Given the description of an element on the screen output the (x, y) to click on. 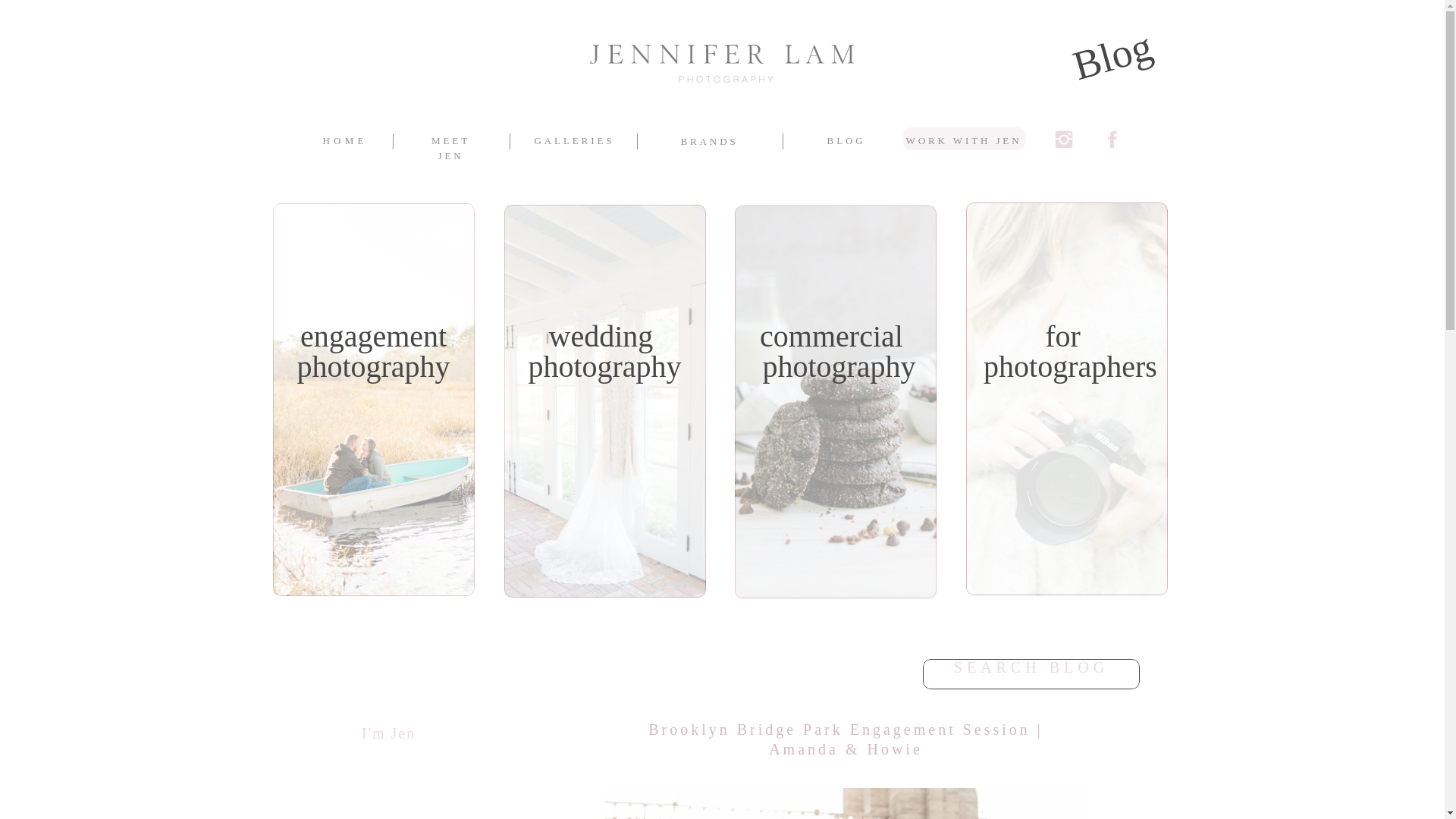
BRANDS (709, 141)
WORK WITH JEN (963, 138)
HOME (344, 140)
GALLERIES (572, 140)
engagement photography (373, 352)
wedding  photography (604, 352)
 BLOG (1067, 354)
MEET JEN (843, 140)
